Given the description of an element on the screen output the (x, y) to click on. 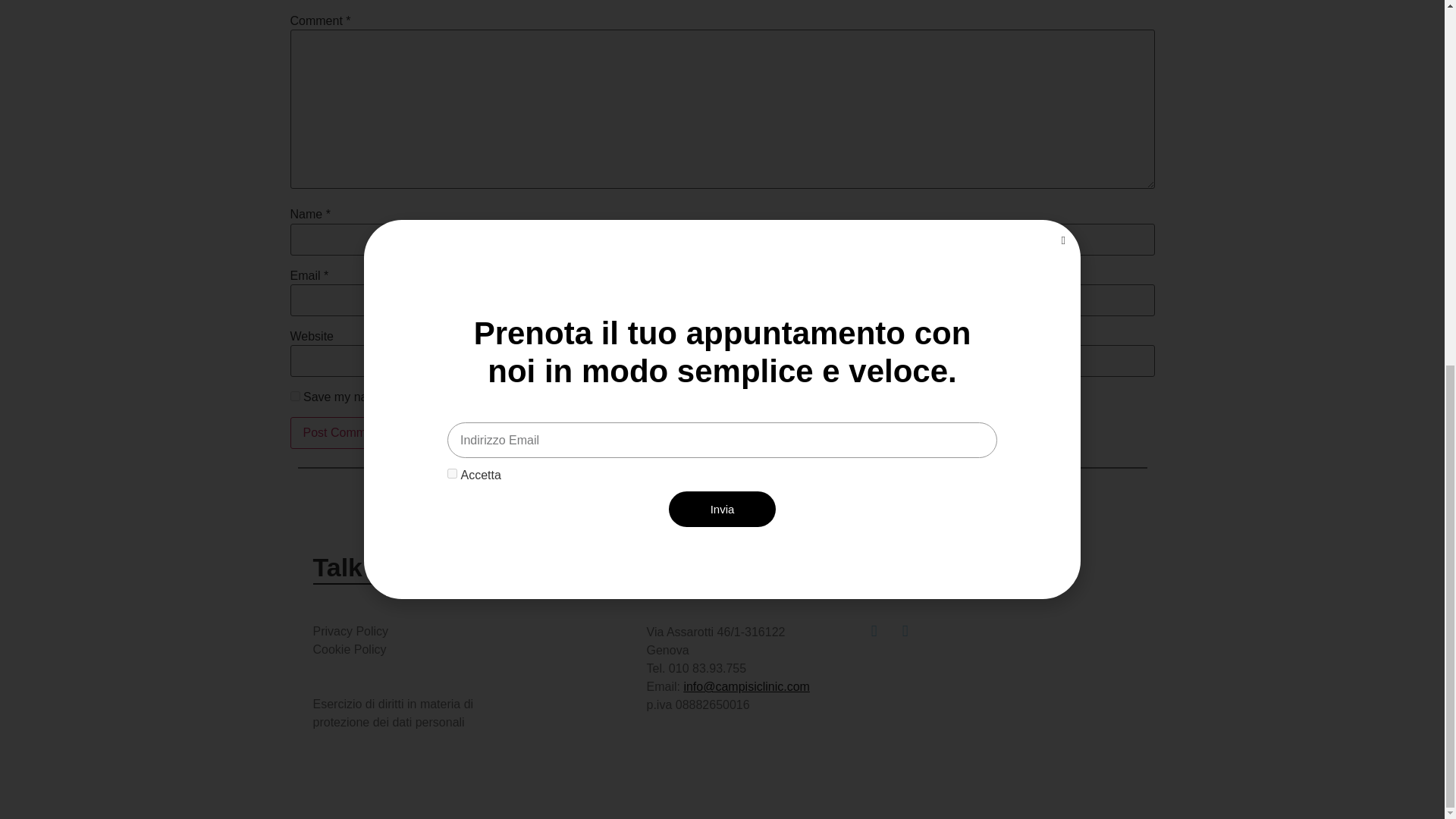
Post Comment (342, 432)
Post Comment (342, 432)
yes (294, 396)
